Given the description of an element on the screen output the (x, y) to click on. 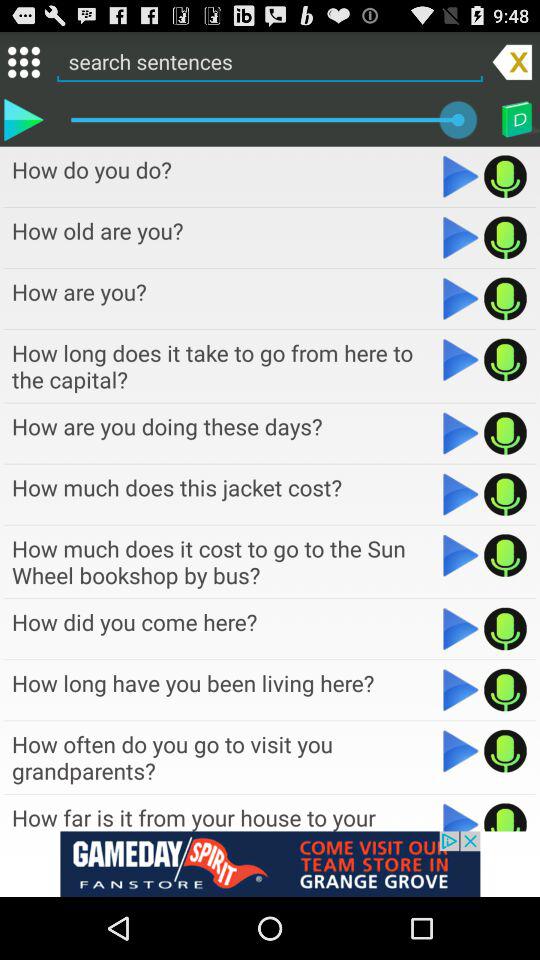
search sentences how are you doing these days (460, 433)
